Given the description of an element on the screen output the (x, y) to click on. 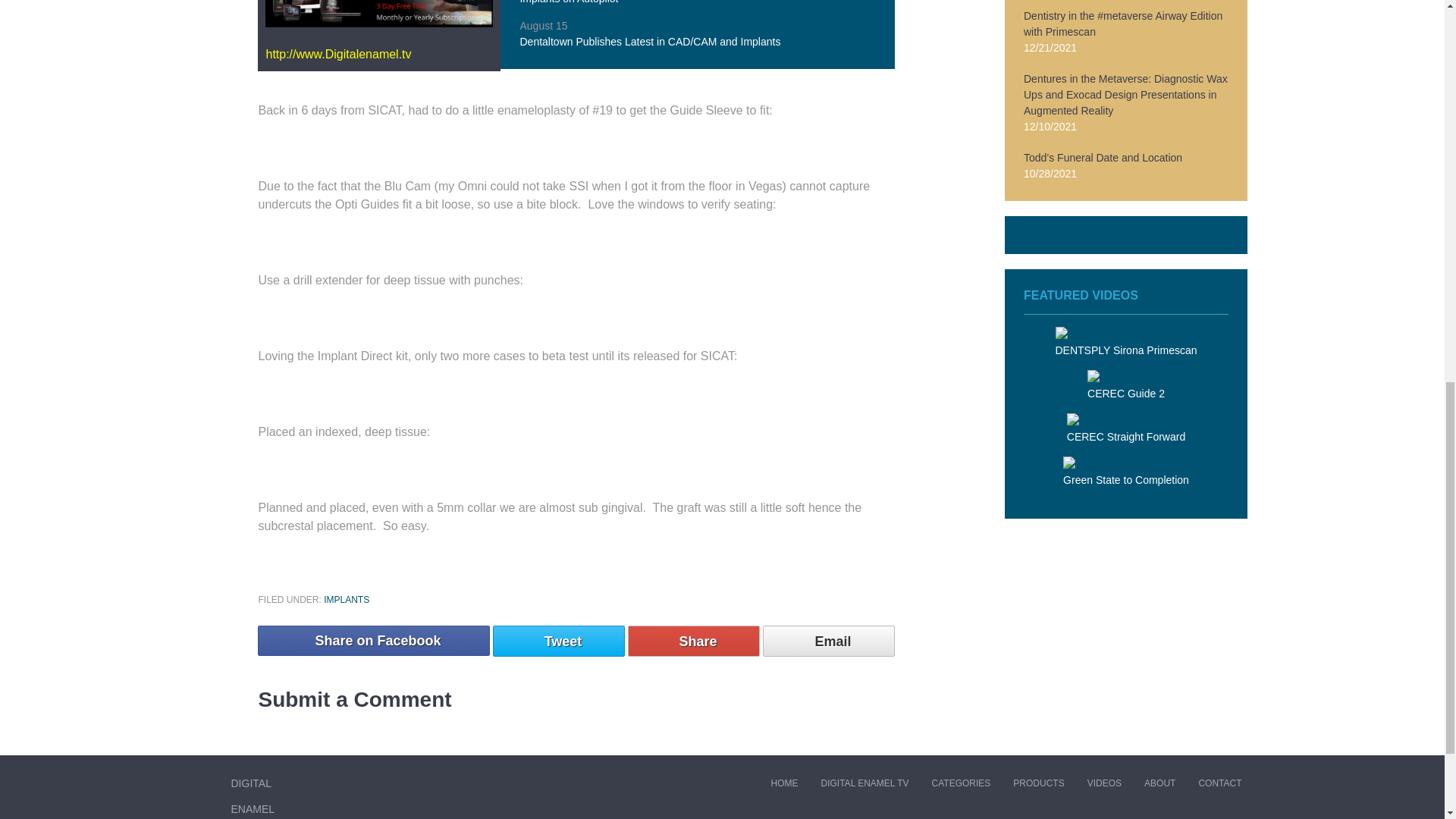
Share via Email (828, 640)
Share on Facebook (373, 640)
Share on Twitter (558, 640)
